Given the description of an element on the screen output the (x, y) to click on. 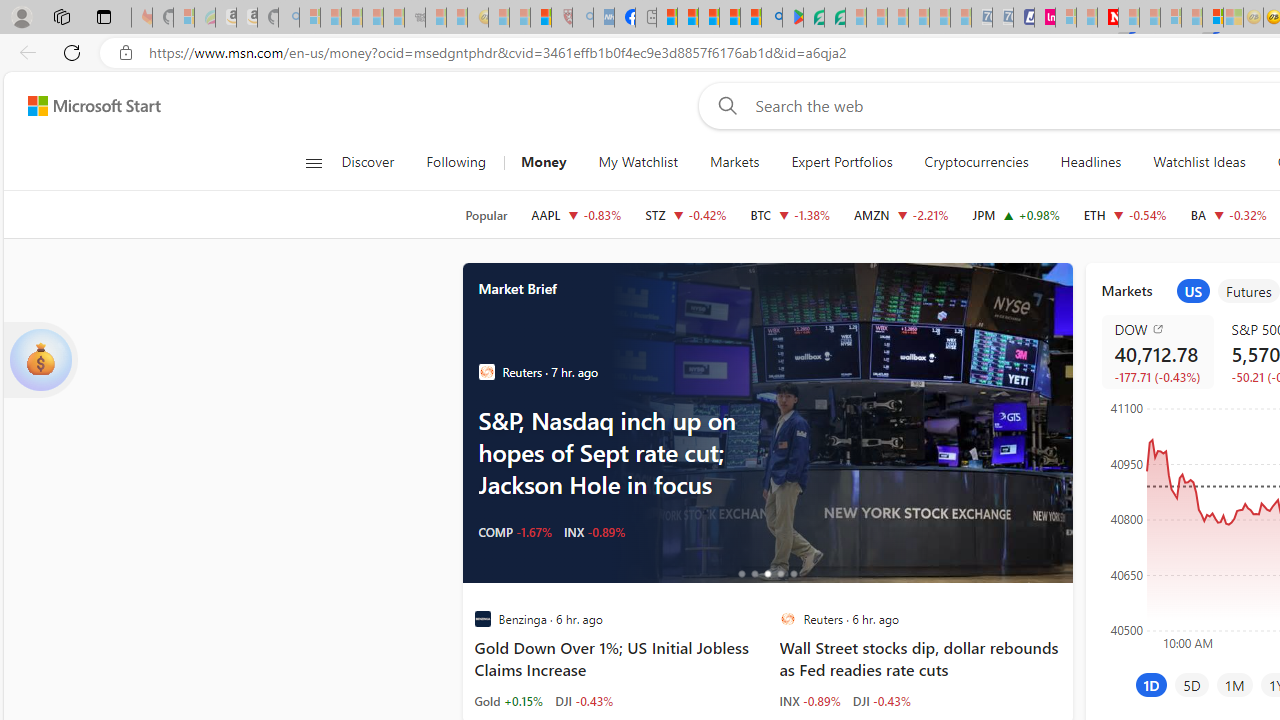
Traders work on the floor of the NYSE in New York (838, 422)
Pets - MSN (729, 17)
Expert Portfolios (842, 162)
Expert Portfolios (841, 162)
item1 (1193, 291)
STZ CONSTELLATION BRANDS, INC. decrease 243.70 -1.04 -0.42% (685, 214)
JPM JPMORGAN CHASE & CO. increase 216.71 +2.11 +0.98% (1016, 214)
Open navigation menu (313, 162)
